Given the description of an element on the screen output the (x, y) to click on. 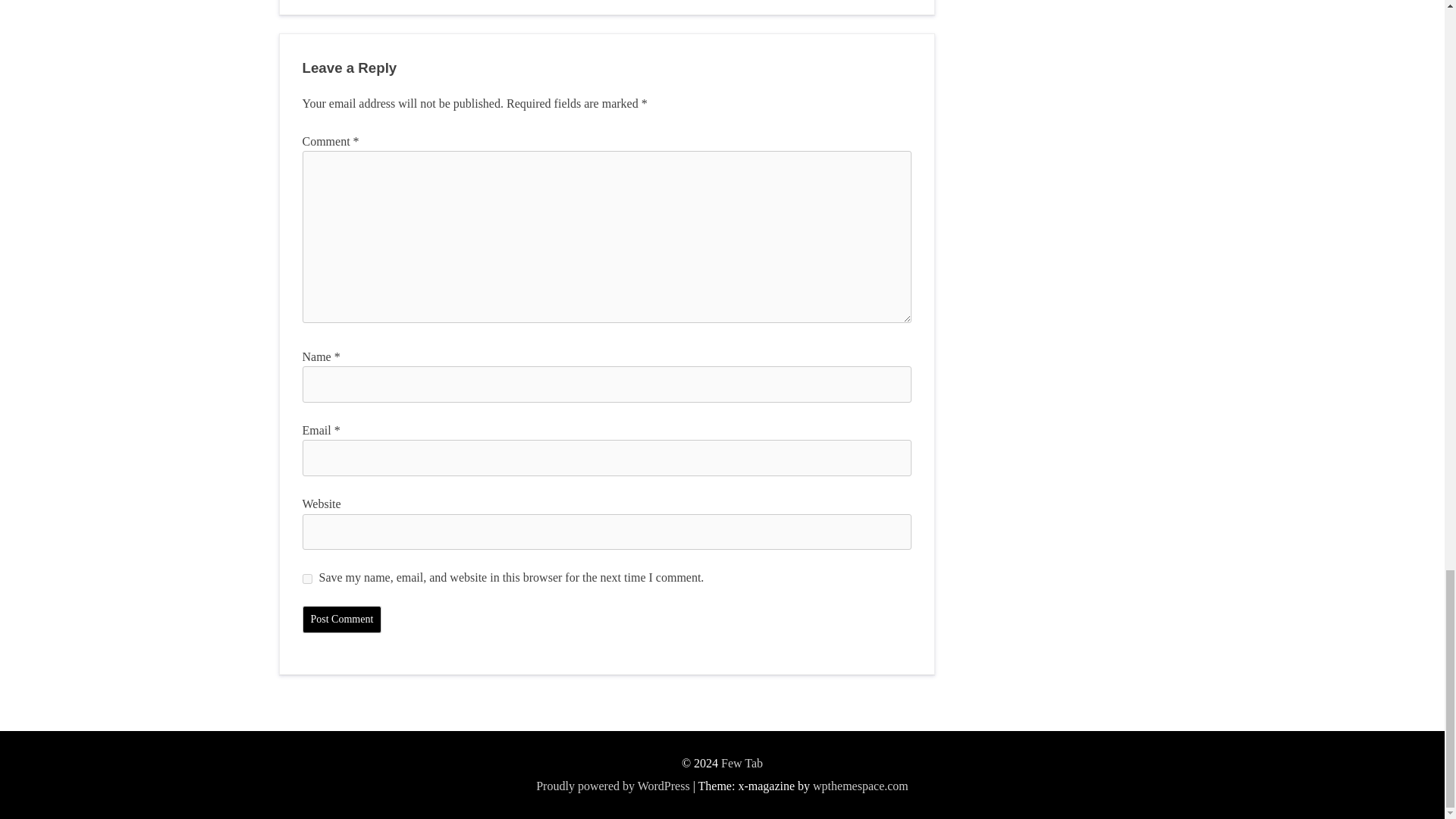
wpthemespace.com (860, 786)
yes (306, 578)
Post Comment (341, 619)
Proudly powered by WordPress (611, 786)
Post Comment (341, 619)
Few Tab (741, 763)
